Given the description of an element on the screen output the (x, y) to click on. 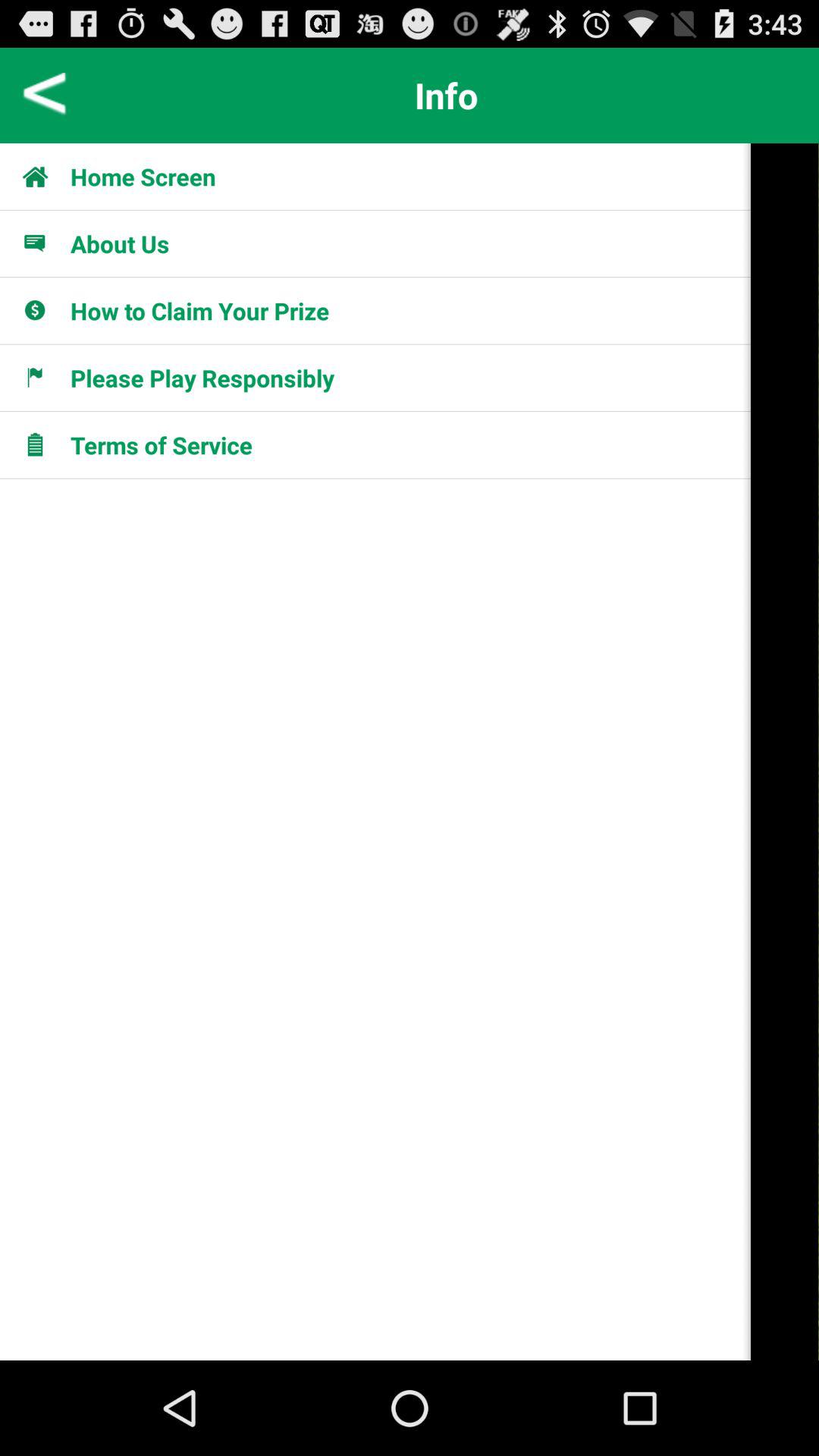
turn on terms of service app (161, 444)
